Given the description of an element on the screen output the (x, y) to click on. 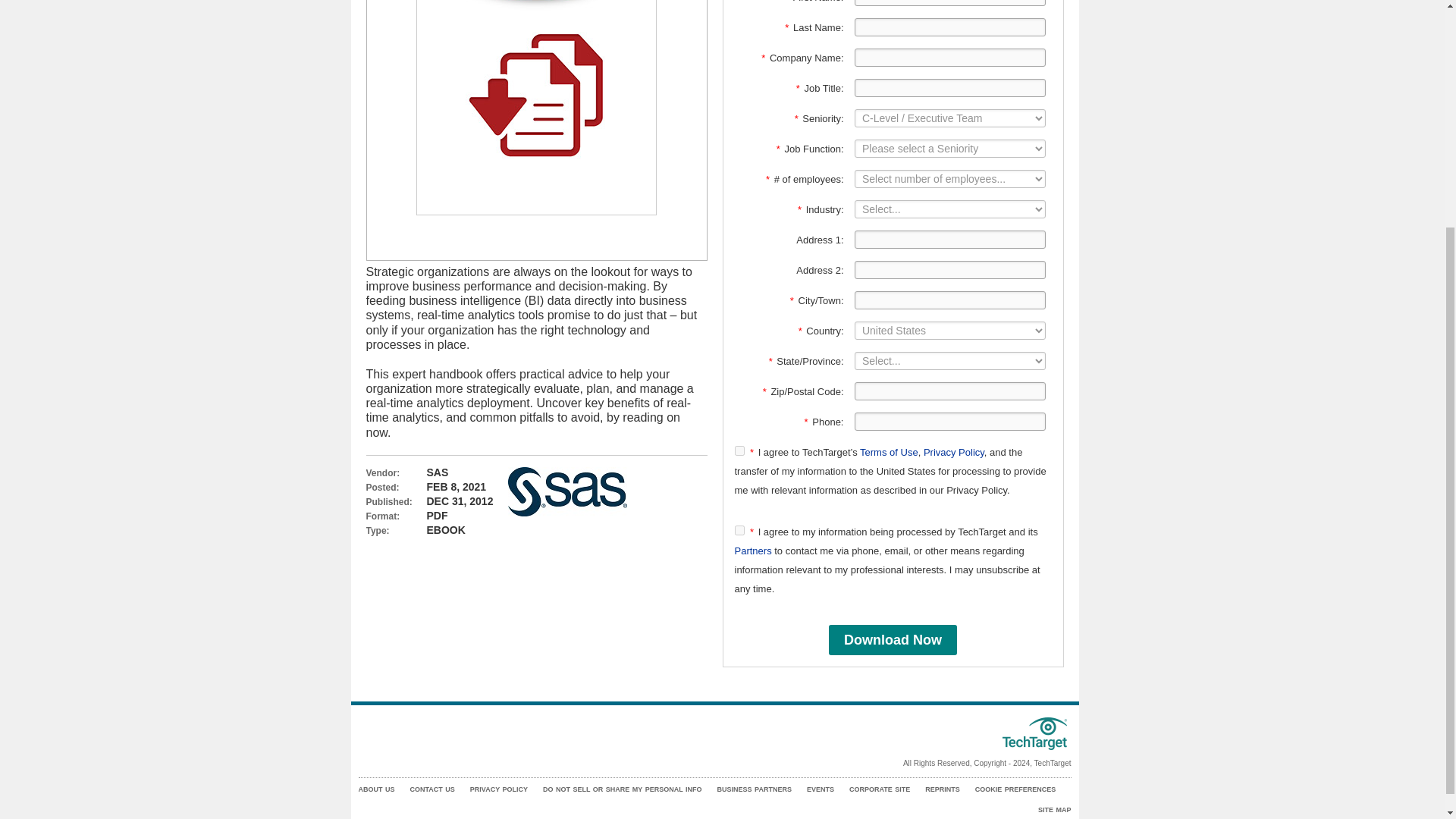
DO NOT SELL OR SHARE MY PERSONAL INFO (622, 789)
EVENTS (820, 789)
Download Now (892, 639)
Partners (752, 550)
CONTACT US (431, 789)
ABOUT US (376, 789)
Download Now (892, 639)
PRIVACY POLICY (498, 789)
true (738, 530)
SITE MAP (1054, 809)
BUSINESS PARTNERS (754, 789)
CORPORATE SITE (879, 789)
true (738, 450)
Terms of Use (889, 451)
REPRINTS (941, 789)
